Given the description of an element on the screen output the (x, y) to click on. 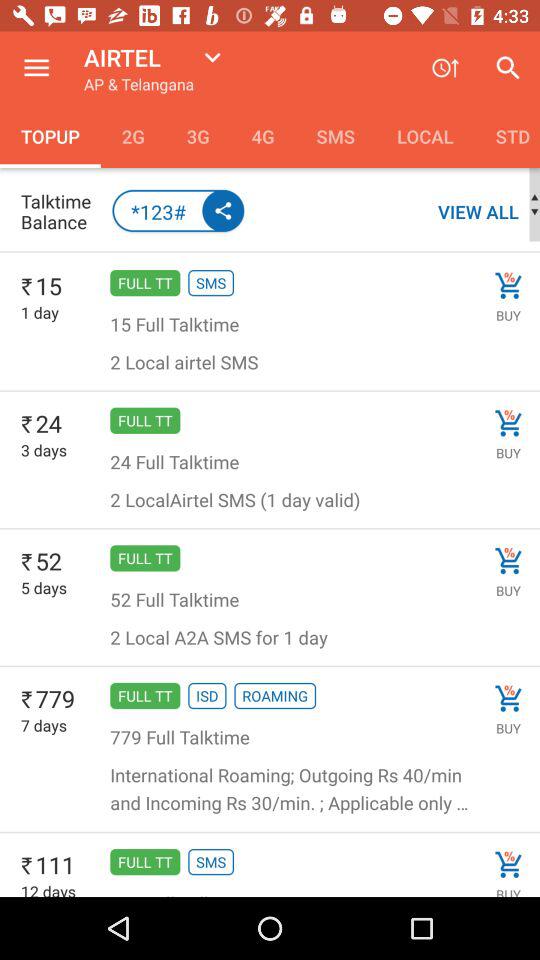
launch item to the left of the 15 icon (27, 287)
